Given the description of an element on the screen output the (x, y) to click on. 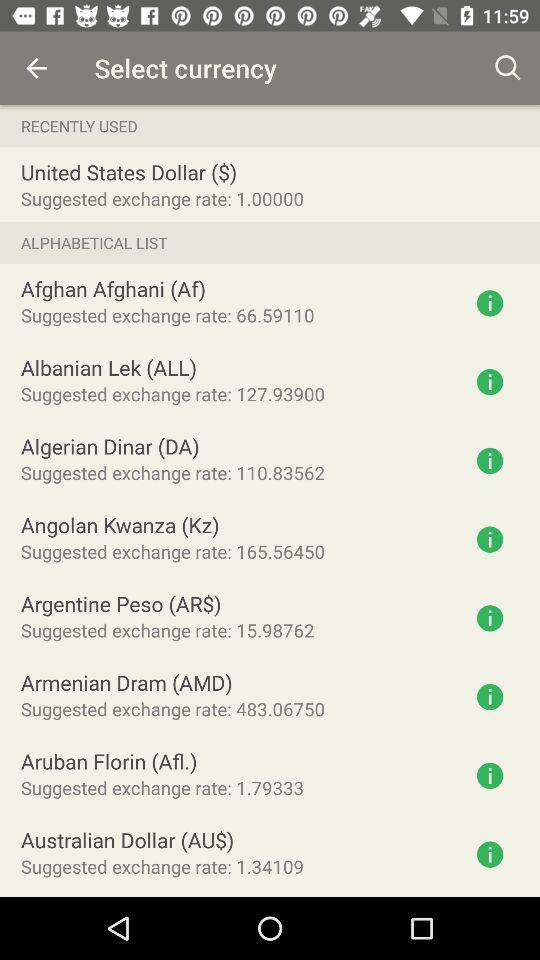
go back (36, 68)
